Given the description of an element on the screen output the (x, y) to click on. 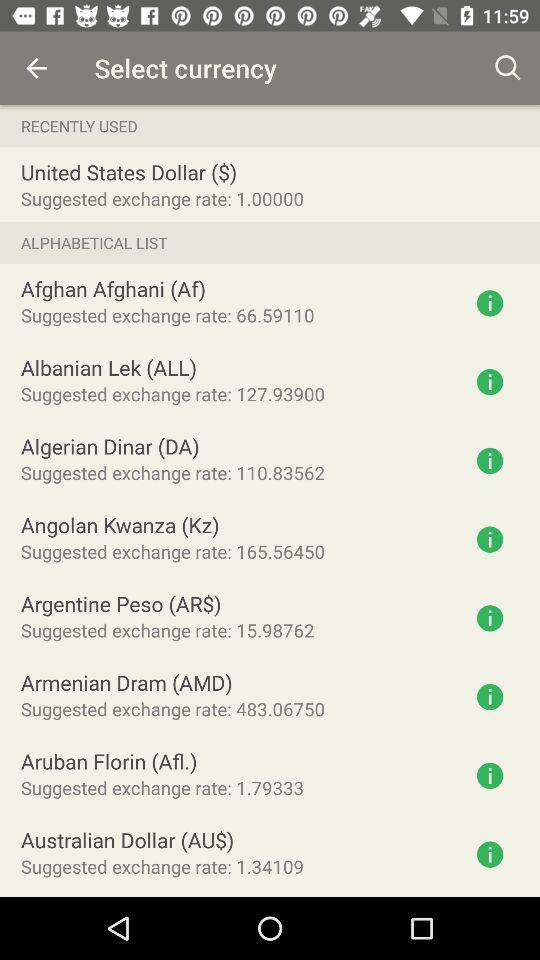
go back (36, 68)
